Given the description of an element on the screen output the (x, y) to click on. 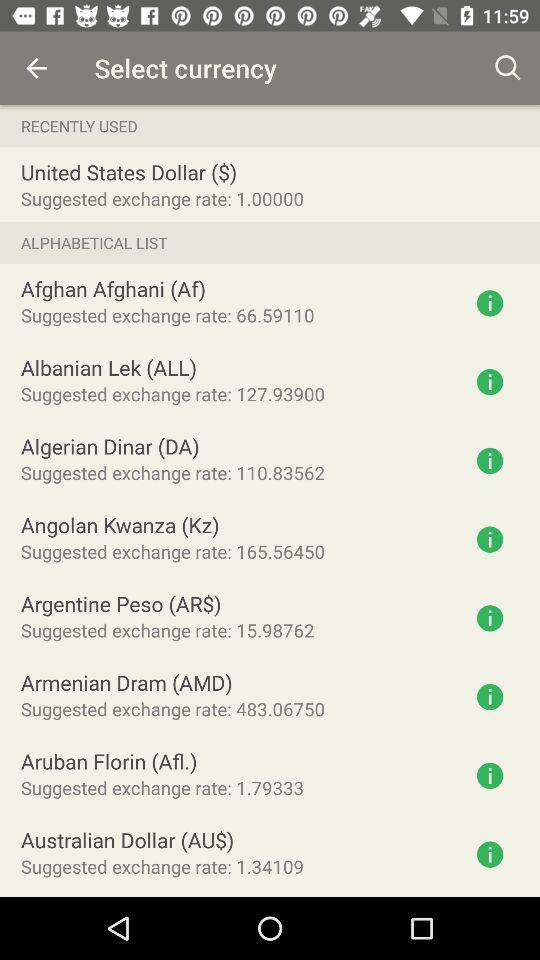
go back (36, 68)
